Given the description of an element on the screen output the (x, y) to click on. 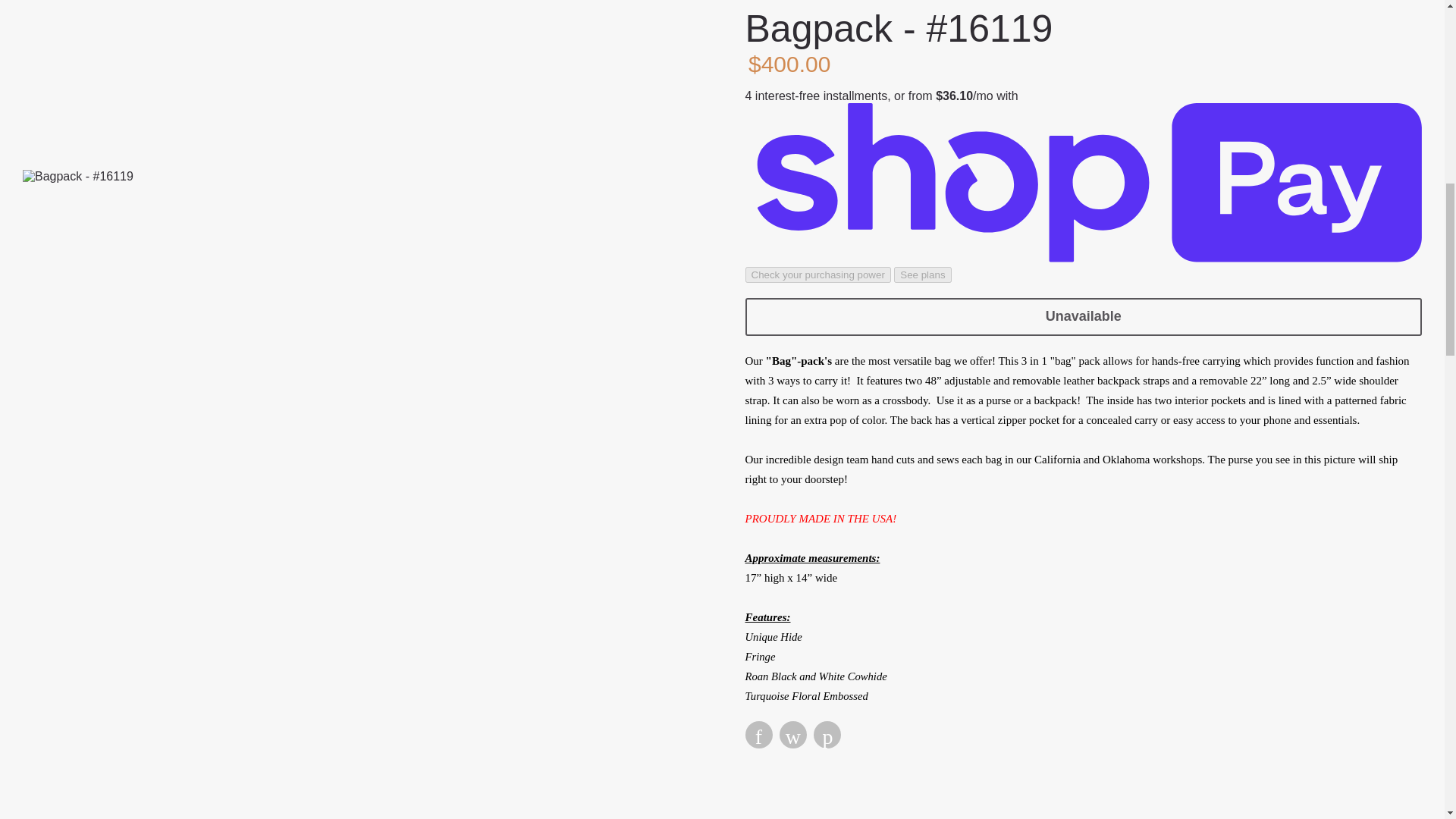
Share on Twitter (792, 174)
Share on Pinterest (827, 174)
Share on Facebook (757, 174)
